Given the description of an element on the screen output the (x, y) to click on. 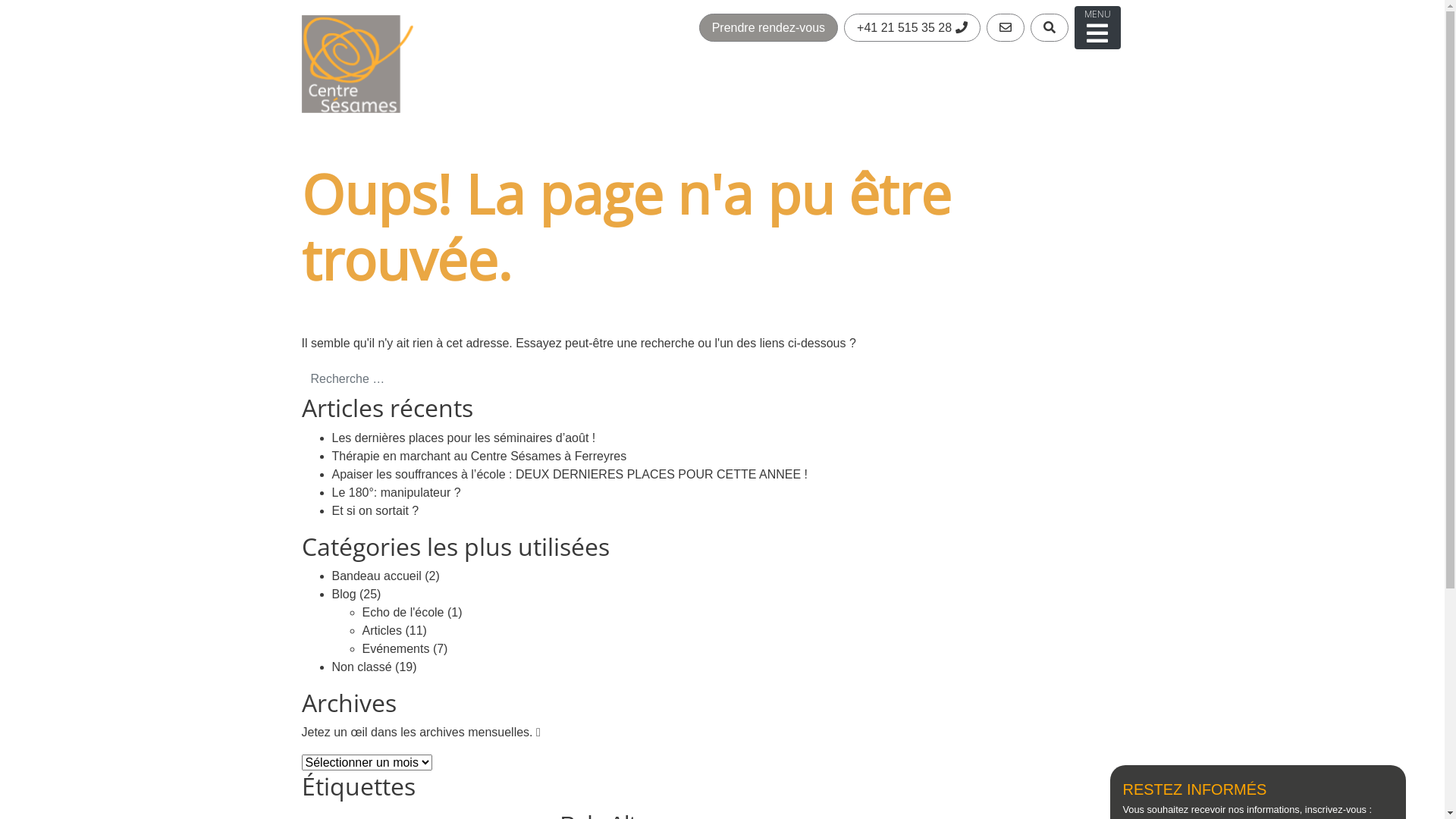
Prendre rendez-vous Element type: text (768, 27)
Et si on sortait ? Element type: text (375, 510)
Bandeau accueil Element type: text (376, 575)
MENU Element type: text (1096, 27)
Articles Element type: text (381, 630)
Blog Element type: text (344, 593)
